Given the description of an element on the screen output the (x, y) to click on. 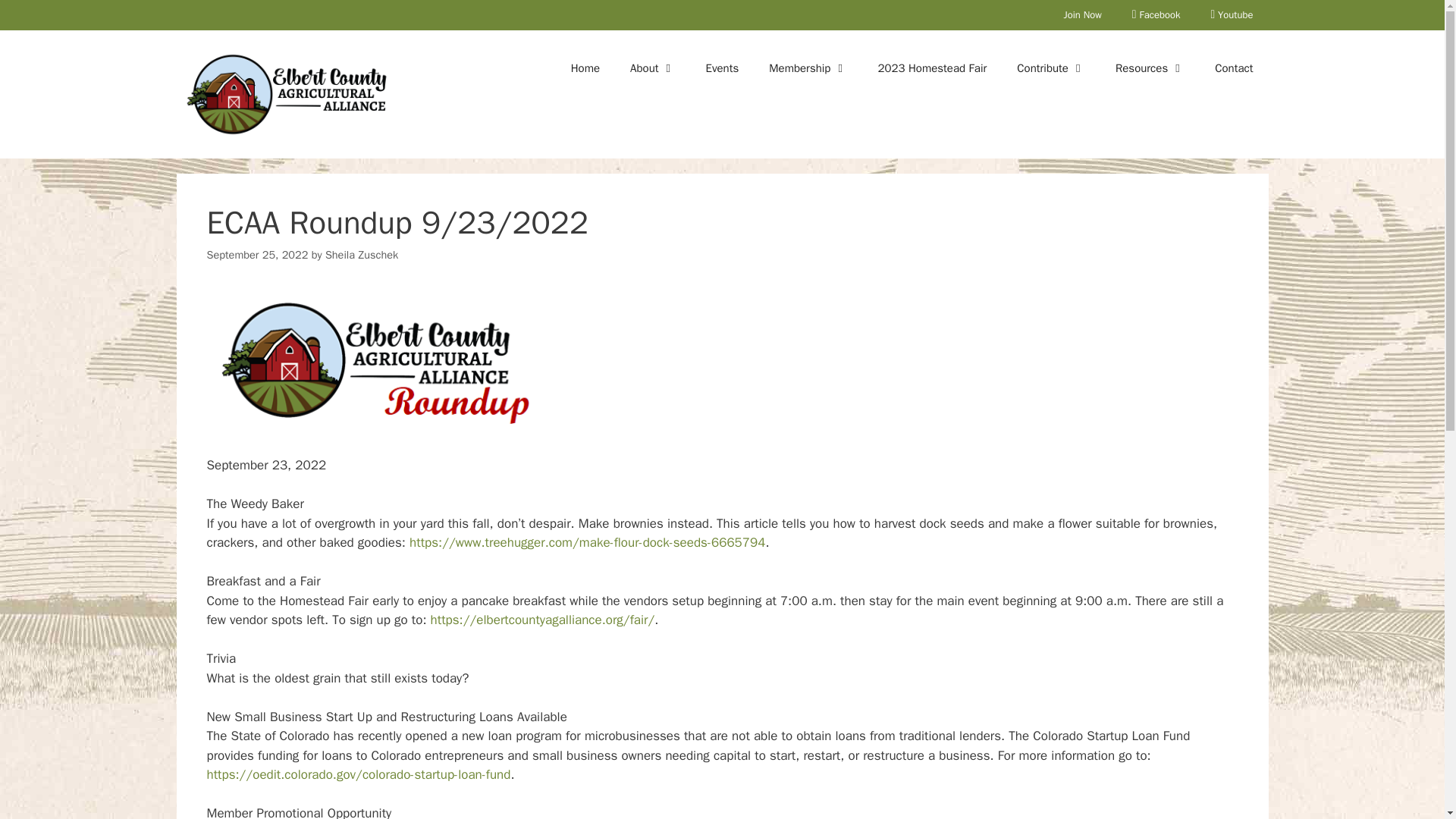
Home (585, 67)
Facebook (1155, 15)
View all posts by Sheila Zuschek (360, 254)
Membership (807, 67)
2023 Homestead Fair (931, 67)
Events (722, 67)
About (652, 67)
Contribute (1050, 67)
Join Now (1082, 15)
Resources (1149, 67)
Contact (1233, 67)
Sheila Zuschek (360, 254)
Youtube (1231, 15)
